Given the description of an element on the screen output the (x, y) to click on. 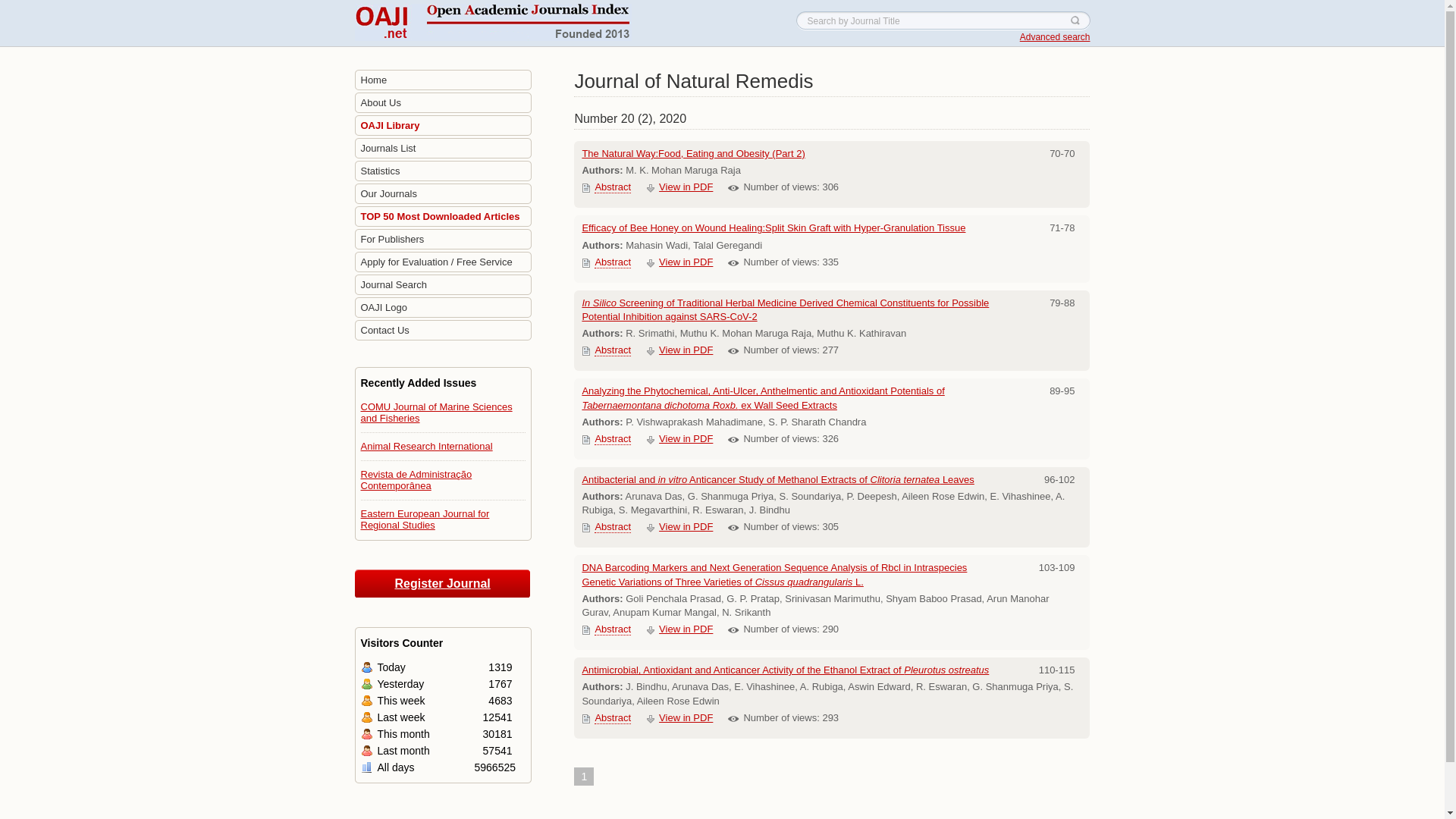
OAJI Library (443, 126)
View in PDF (686, 261)
For Publishers (443, 239)
TOP 50 Most Downloaded Articles (443, 217)
About Us (443, 103)
Statistics (443, 171)
Open Academic Journals Index (493, 22)
Our Journals (443, 194)
COMU Journal of Marine Sciences and Fisheries (436, 412)
Eastern European Journal for Regional Studies (425, 518)
Home (443, 80)
Journals List (443, 148)
Animal Research International (427, 446)
Search by Journal Title (943, 20)
Abstract (612, 262)
